Given the description of an element on the screen output the (x, y) to click on. 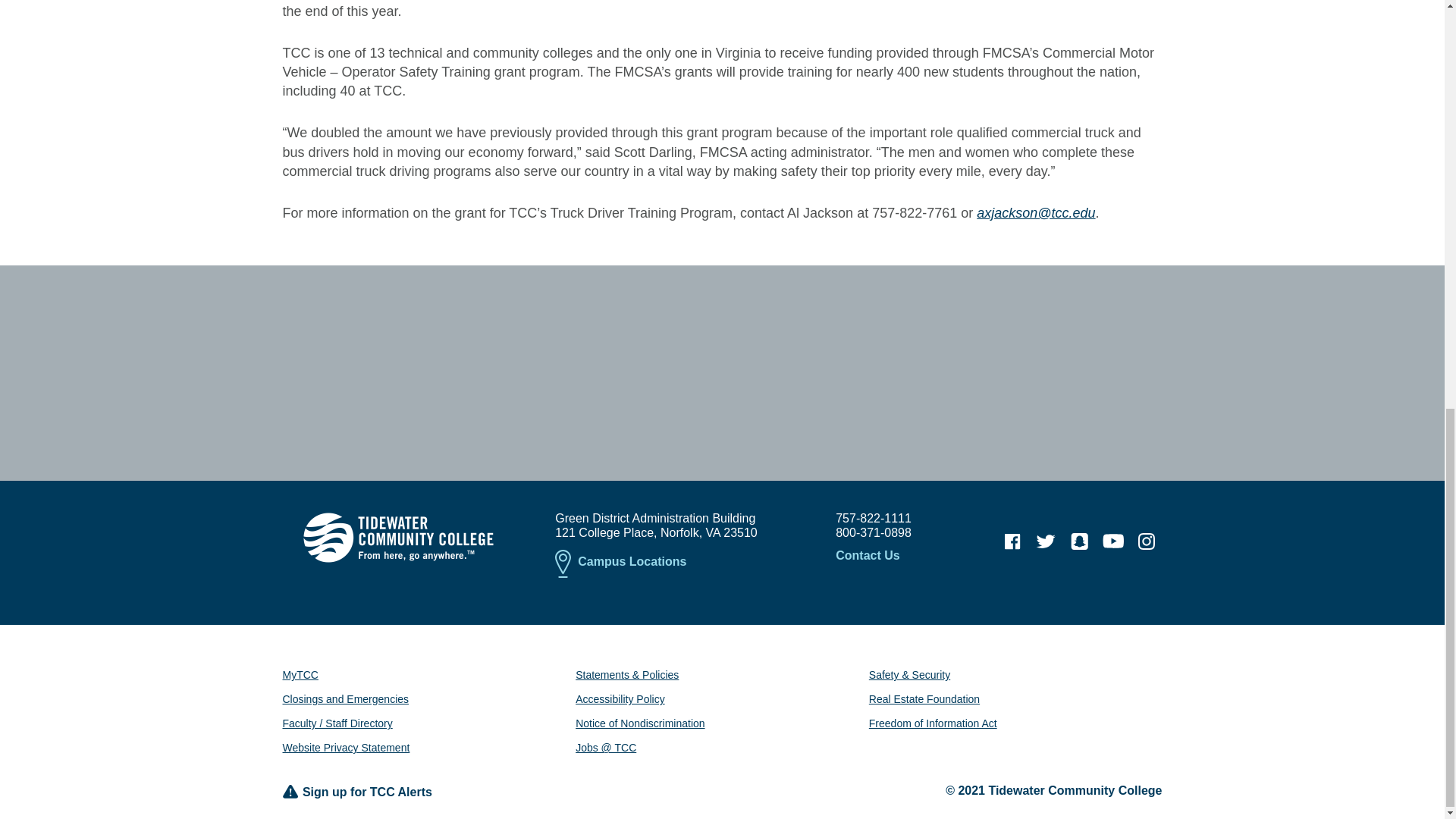
TCC on Instagram (1146, 541)
TCC on Facebook (1012, 541)
TCC on YouTube (1112, 541)
TCC on Snapchat (1079, 541)
TCC on Twitter (1045, 541)
Tidewater Community College (398, 537)
